Given the description of an element on the screen output the (x, y) to click on. 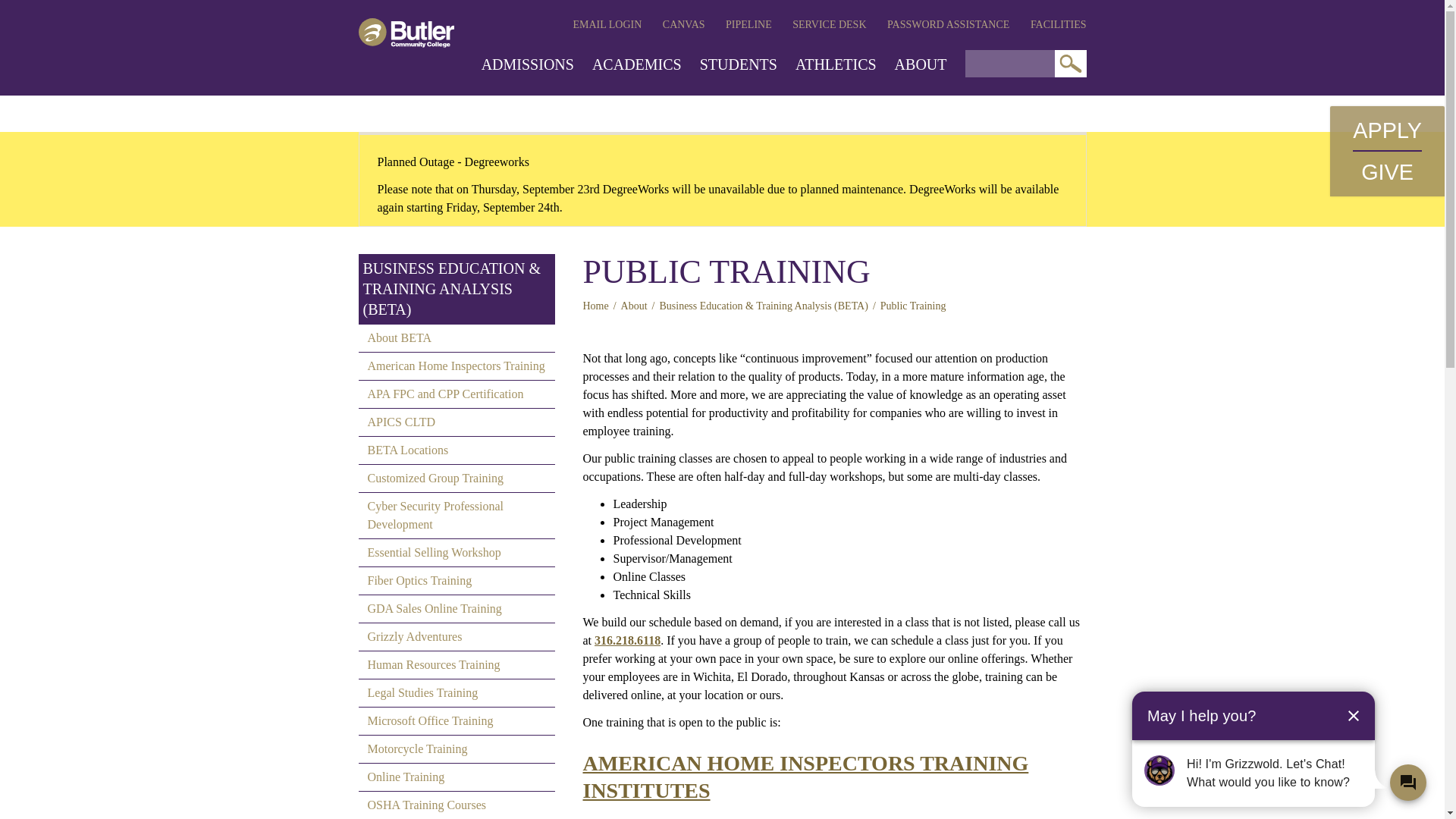
ACADEMICS (636, 64)
Butler Community College (405, 32)
Give Now (1387, 171)
Apply Now (1387, 129)
ADMISSIONS (527, 64)
316.218.6118 (627, 640)
AHIT (804, 776)
